Given the description of an element on the screen output the (x, y) to click on. 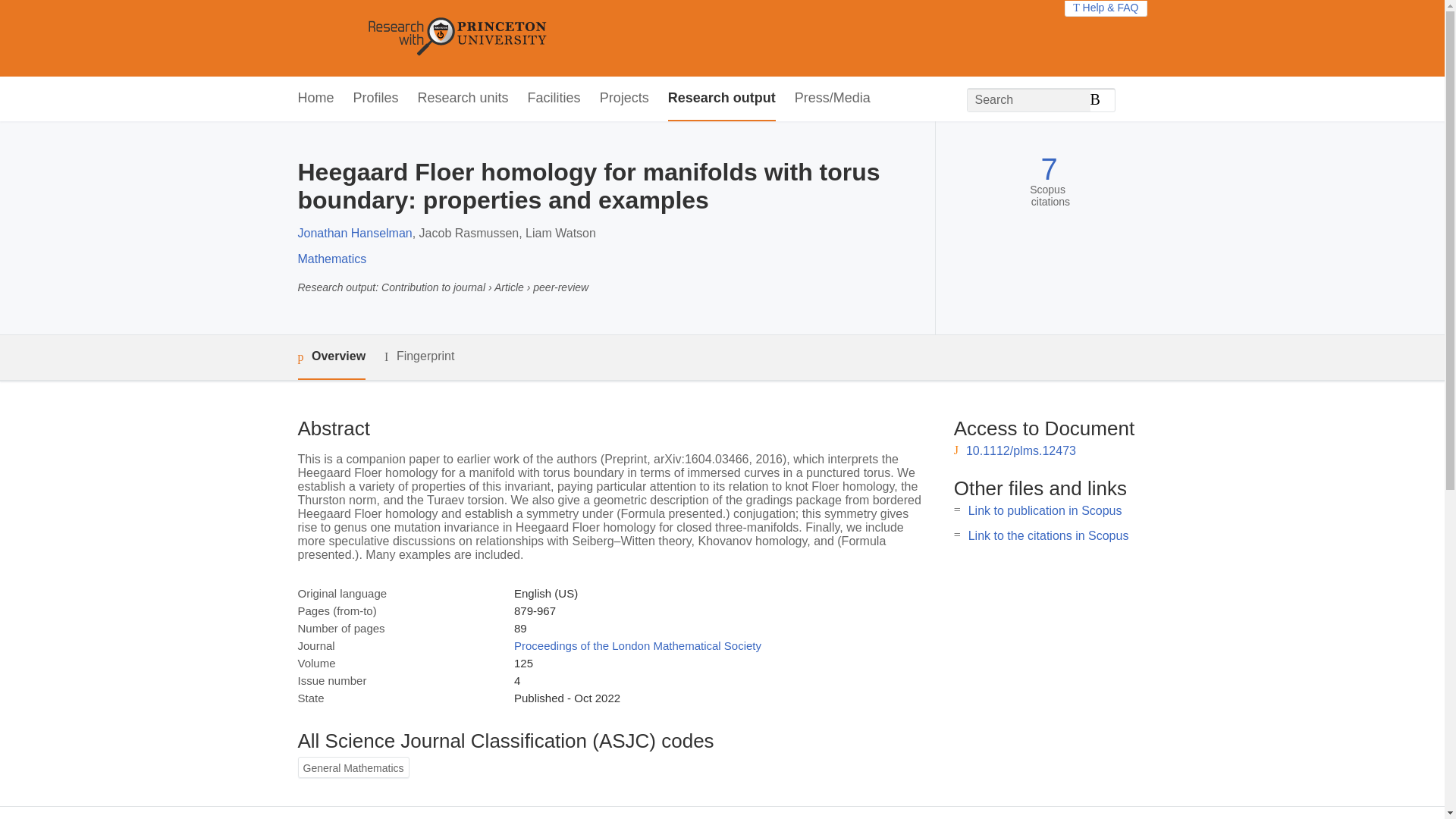
Facilities (553, 98)
Proceedings of the London Mathematical Society (637, 645)
Jonathan Hanselman (354, 232)
Link to publication in Scopus (1045, 510)
Projects (624, 98)
Princeton University Home (567, 38)
Profiles (375, 98)
Link to the citations in Scopus (1048, 535)
Research output (722, 98)
